Given the description of an element on the screen output the (x, y) to click on. 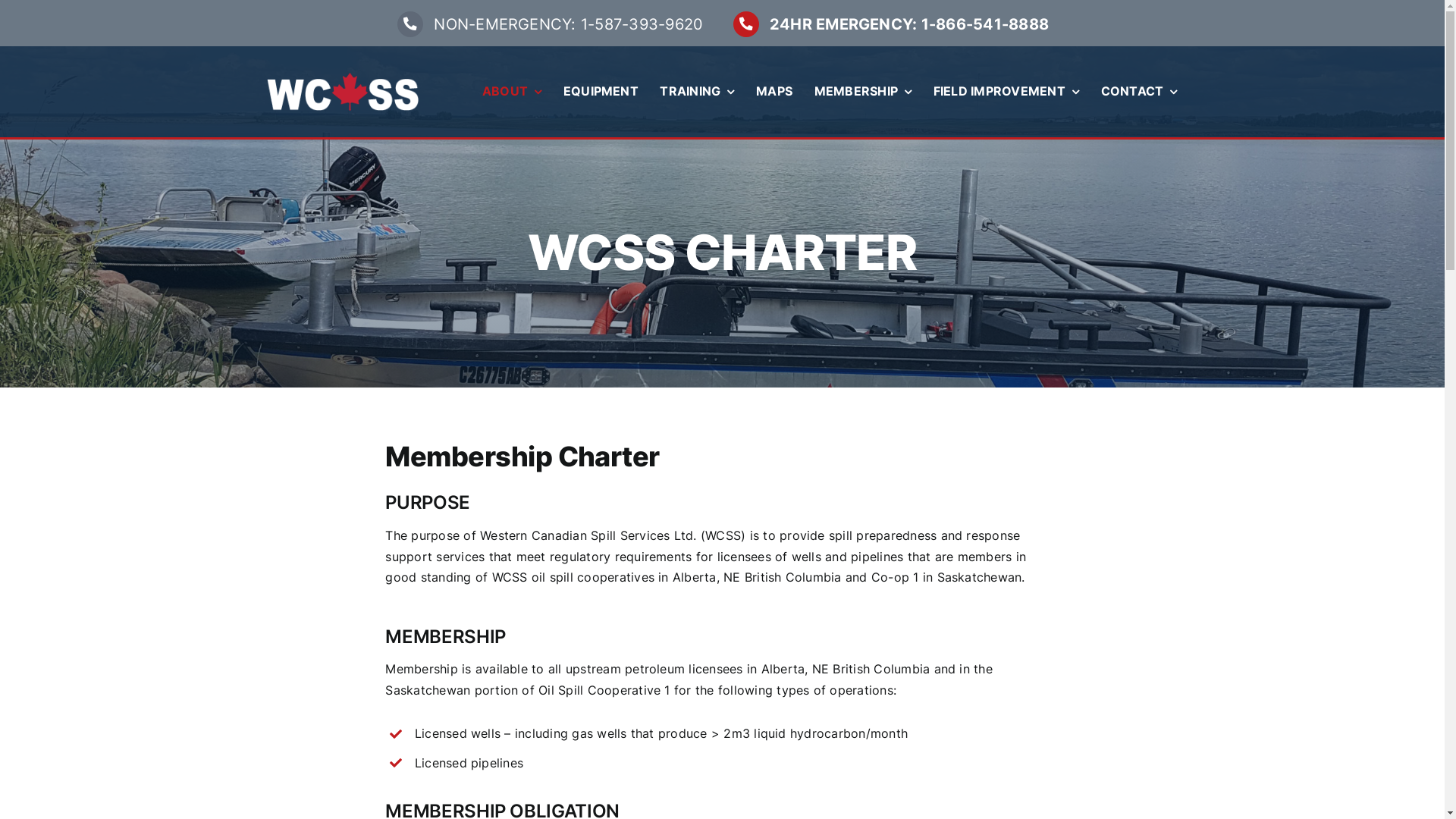
ABOUT Element type: text (511, 91)
TRAINING Element type: text (696, 91)
1-866-541-8888 Element type: text (984, 24)
CONTACT Element type: text (1139, 91)
EQUIPMENT Element type: text (600, 91)
MAPS Element type: text (774, 91)
FIELD IMPROVEMENT Element type: text (1006, 91)
Submit Element type: text (22, 8)
MEMBERSHIP Element type: text (863, 91)
